Given the description of an element on the screen output the (x, y) to click on. 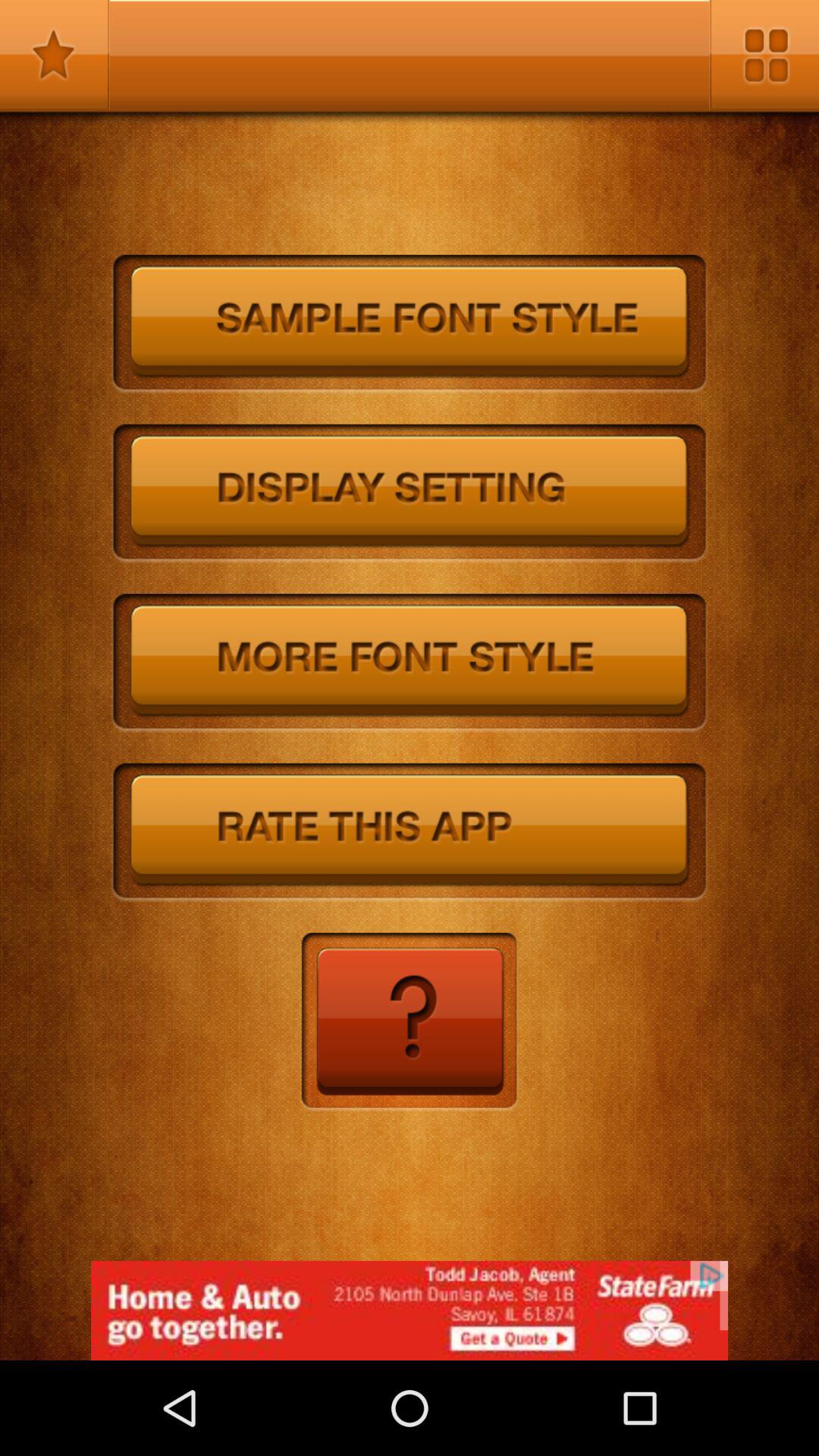
choose the more font style (409, 663)
